Given the description of an element on the screen output the (x, y) to click on. 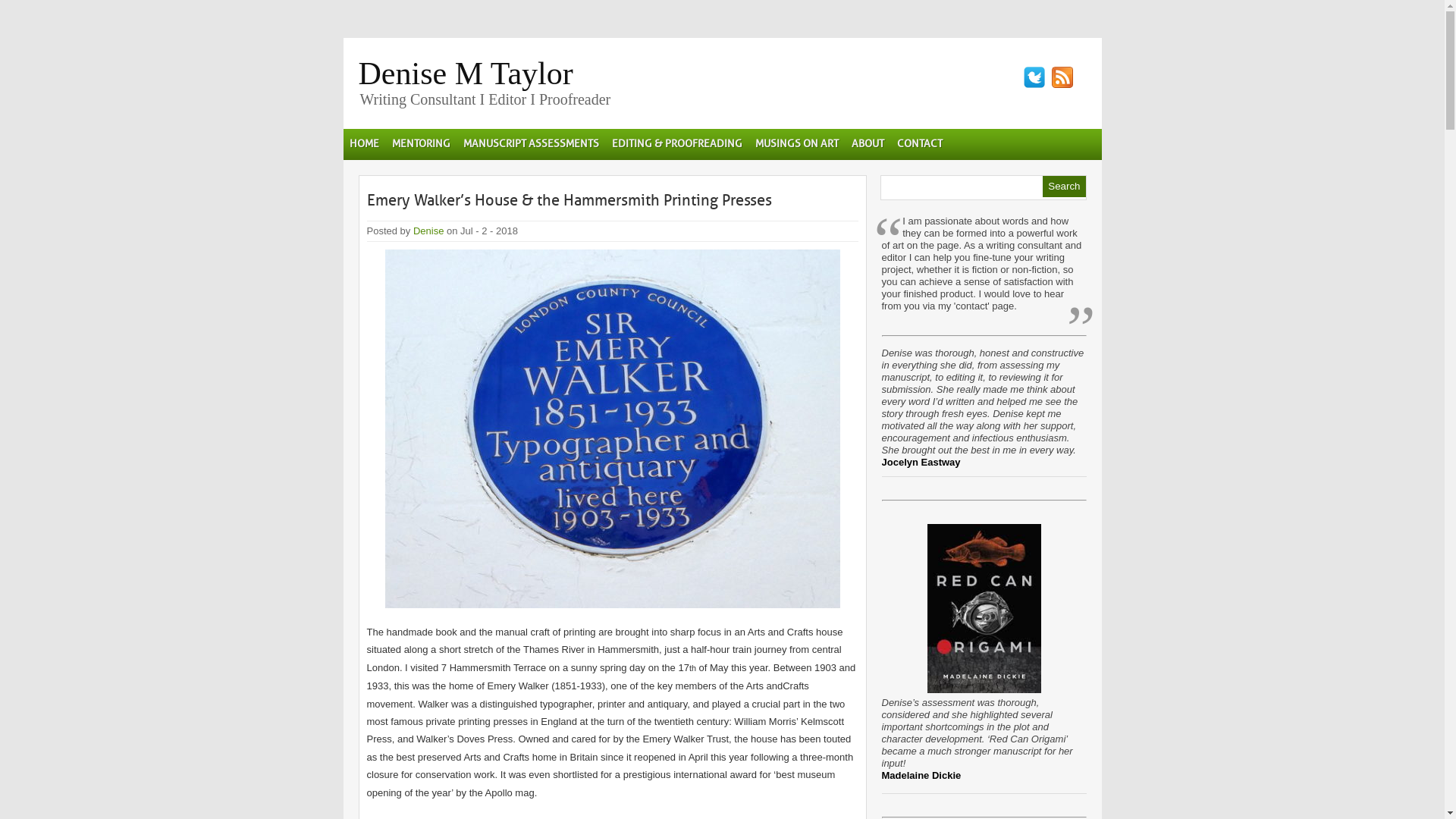
Denise M Taylor Element type: text (464, 73)
ABOUT Element type: text (866, 143)
MENTORING Element type: text (420, 143)
Search Element type: text (1063, 186)
EDITING & PROOFREADING Element type: text (676, 143)
MUSINGS ON ART Element type: text (796, 143)
MANUSCRIPT ASSESSMENTS Element type: text (530, 143)
Denise Element type: text (428, 230)
HOME Element type: text (363, 143)
Follow Denise on Twitter Element type: hover (1033, 76)
CONTACT Element type: text (918, 143)
